Given the description of an element on the screen output the (x, y) to click on. 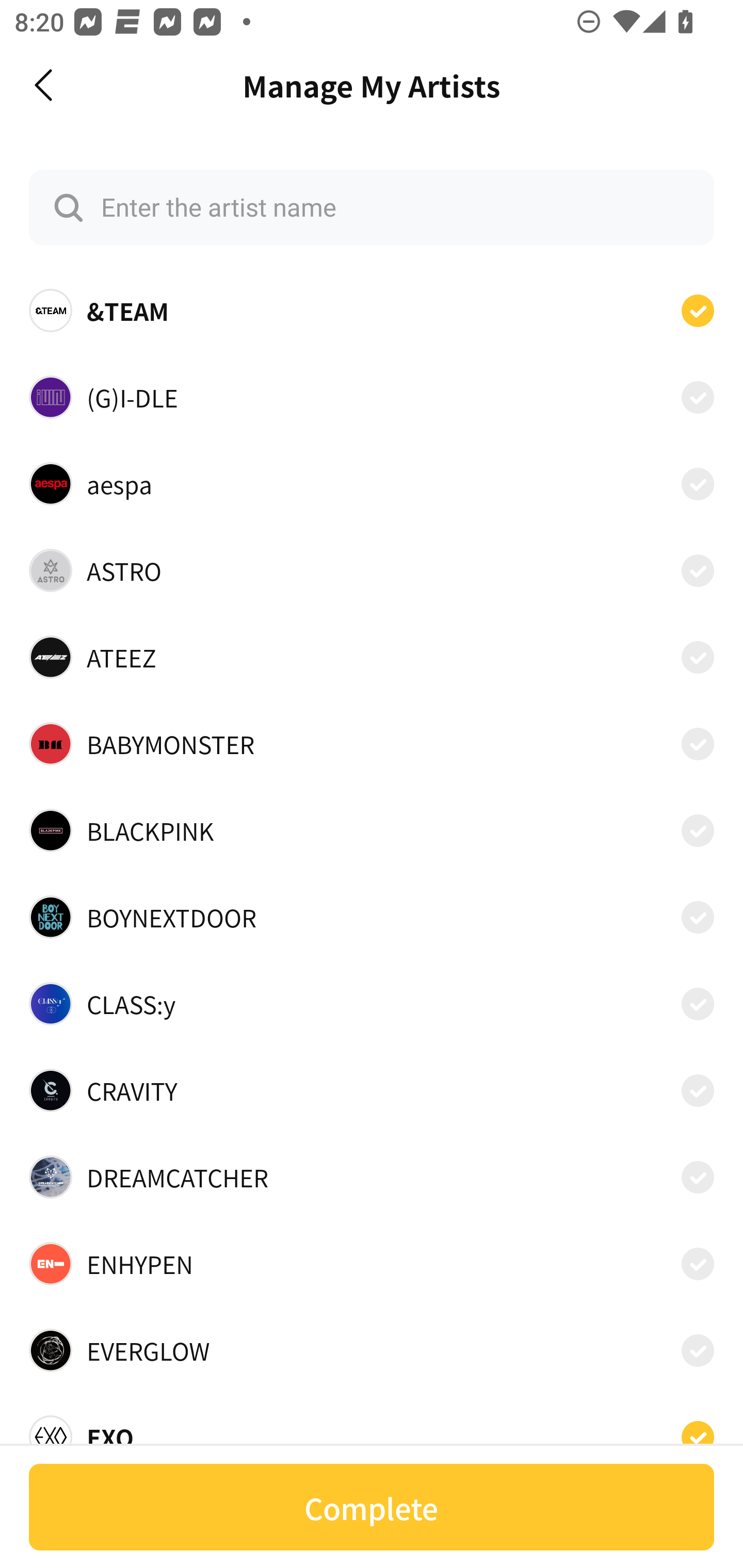
Enter the artist name (371, 207)
&TEAM (371, 310)
(G)I-DLE (371, 396)
aespa (371, 483)
ASTRO (371, 570)
ATEEZ (371, 656)
BABYMONSTER (371, 743)
BLACKPINK (371, 830)
BOYNEXTDOOR (371, 917)
CLASS:y (371, 1003)
CRAVITY (371, 1090)
DREAMCATCHER (371, 1176)
ENHYPEN (371, 1263)
EVERGLOW (371, 1350)
EXO (371, 1430)
Complete (371, 1507)
